Given the description of an element on the screen output the (x, y) to click on. 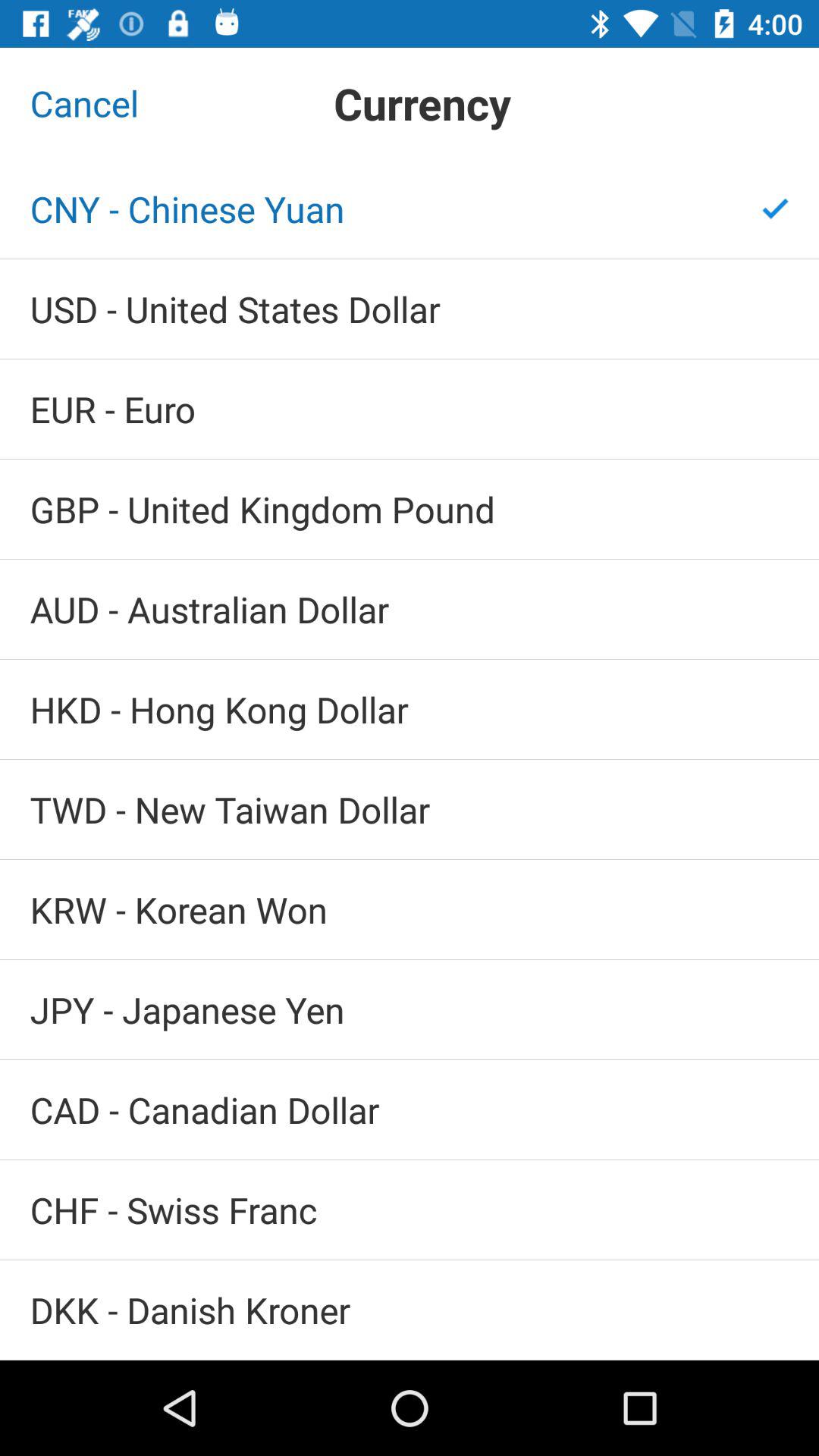
click the item below the jpy - japanese yen (409, 1109)
